Given the description of an element on the screen output the (x, y) to click on. 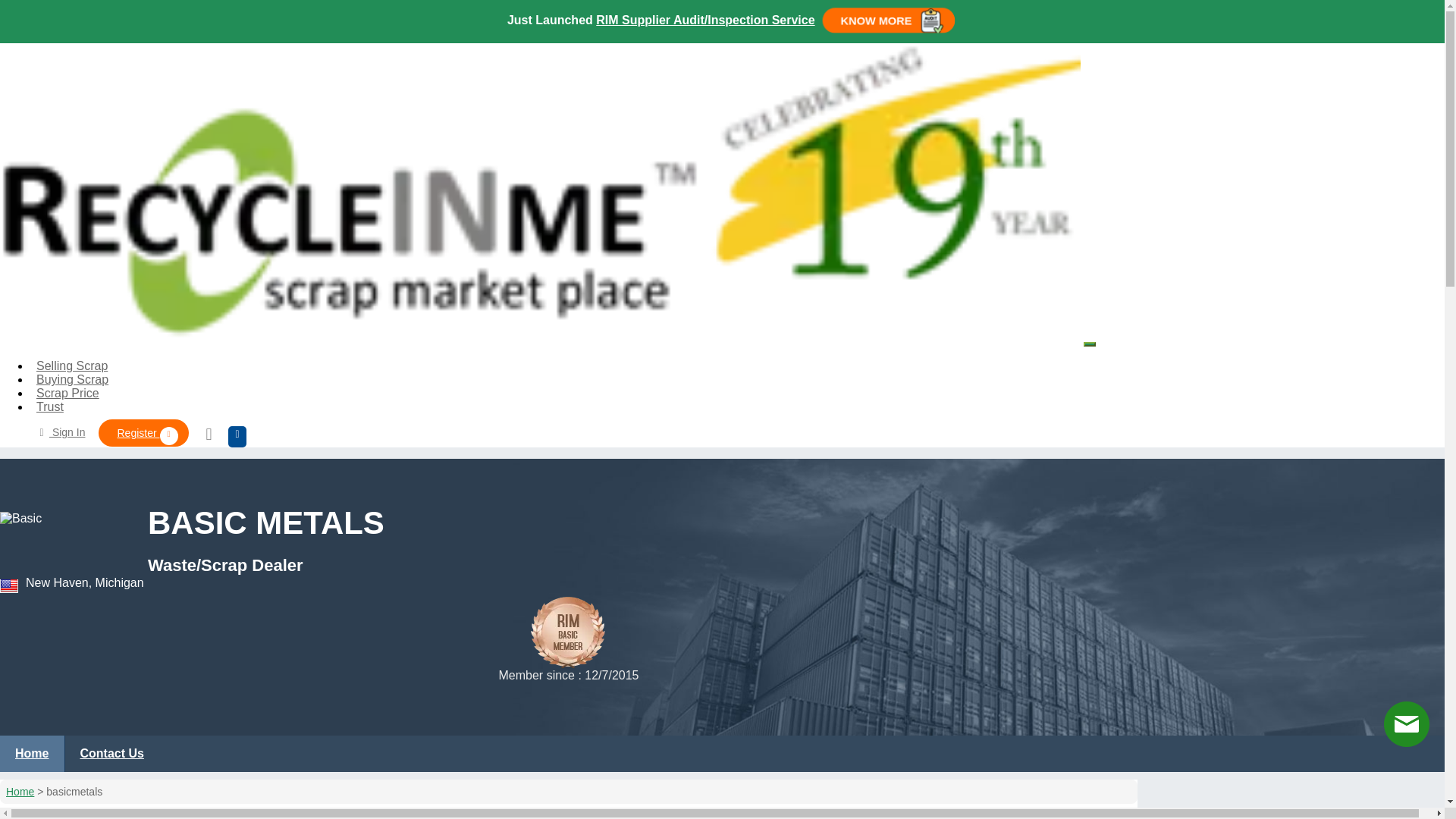
Buying Scrap (72, 379)
Contact Us (111, 753)
Home (19, 791)
Basic (66, 539)
Inquiry Basket (212, 435)
Register (143, 432)
Sign In (58, 431)
Live chat offline (1406, 723)
Home (32, 753)
KNOW MORE (888, 20)
Scrap Price (67, 393)
